Given the description of an element on the screen output the (x, y) to click on. 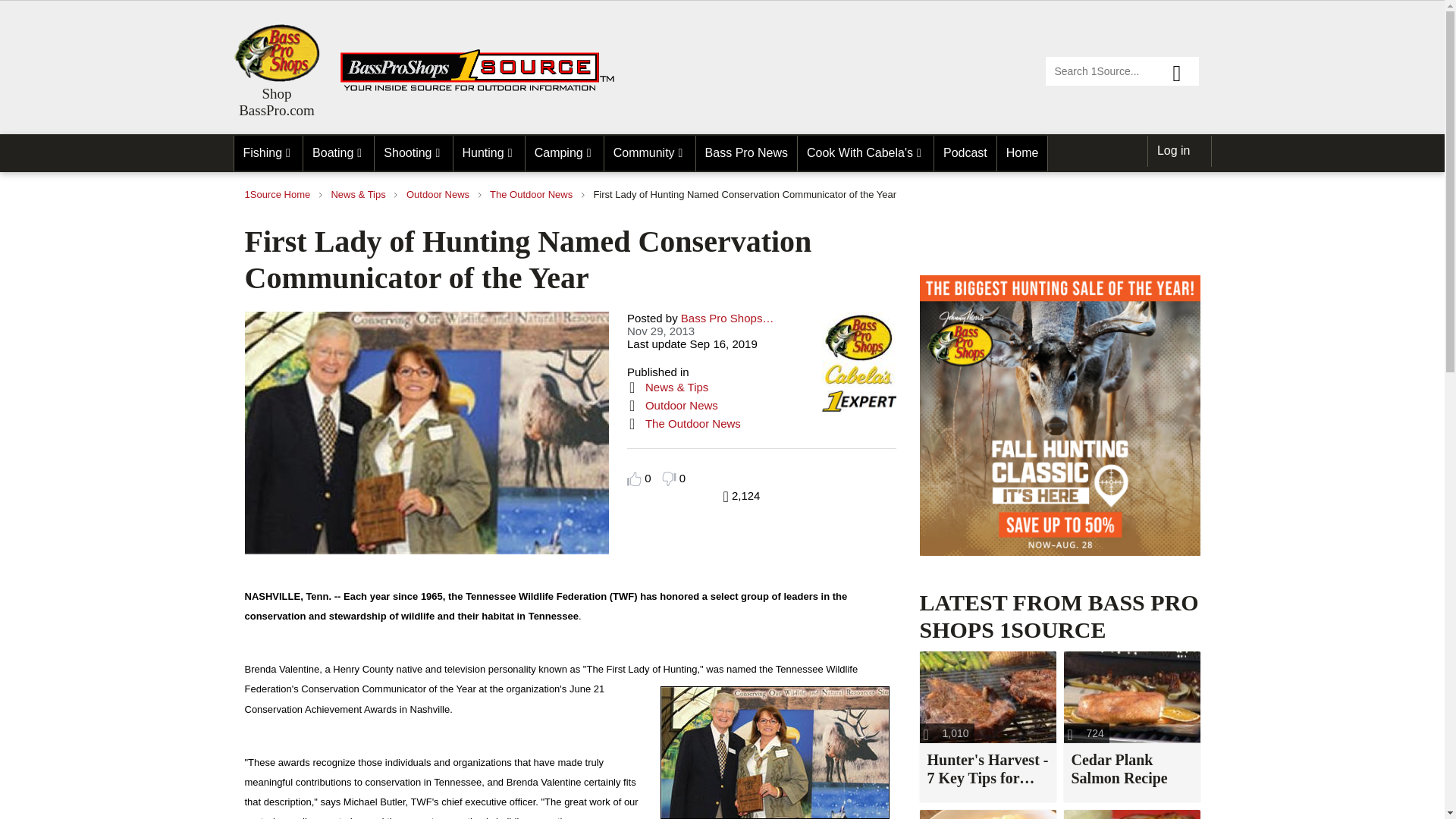
Fishing (268, 153)
Return to Bass Pro 1Source home (483, 88)
Search (1183, 71)
Shop BassPro.com (276, 101)
Shop BassPro.com (276, 52)
Shooting (413, 153)
Enter the terms you wish to search for. (1121, 70)
Search (1183, 71)
